Given the description of an element on the screen output the (x, y) to click on. 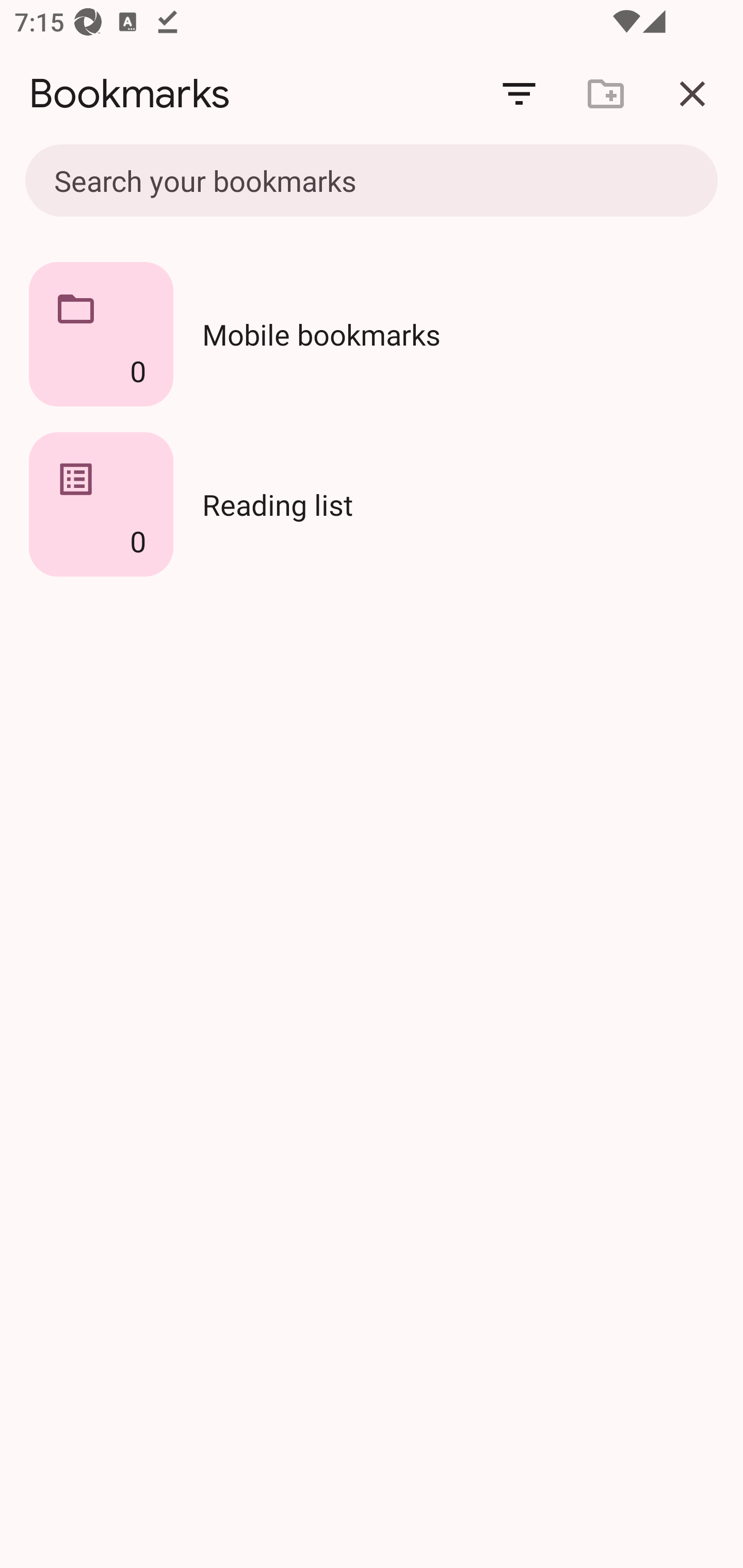
Sort and view options (518, 93)
Create new folder (605, 93)
Close dialog (692, 93)
Search your bookmarks (371, 181)
Mobile bookmarks No bookmarks 0 Mobile bookmarks (371, 333)
Reading list No unread pages 0 Reading list (371, 503)
